Given the description of an element on the screen output the (x, y) to click on. 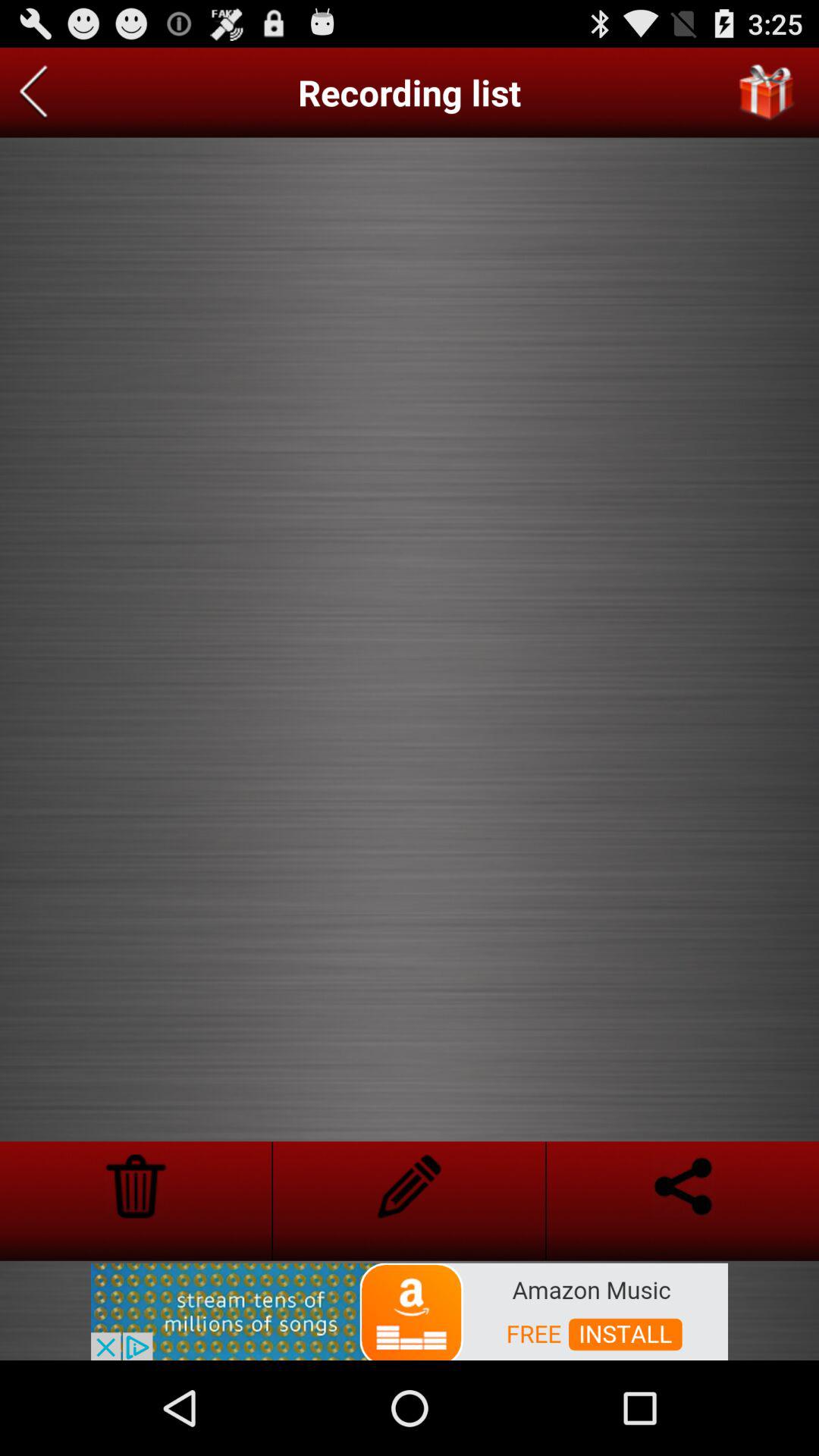
edit description (409, 1186)
